Given the description of an element on the screen output the (x, y) to click on. 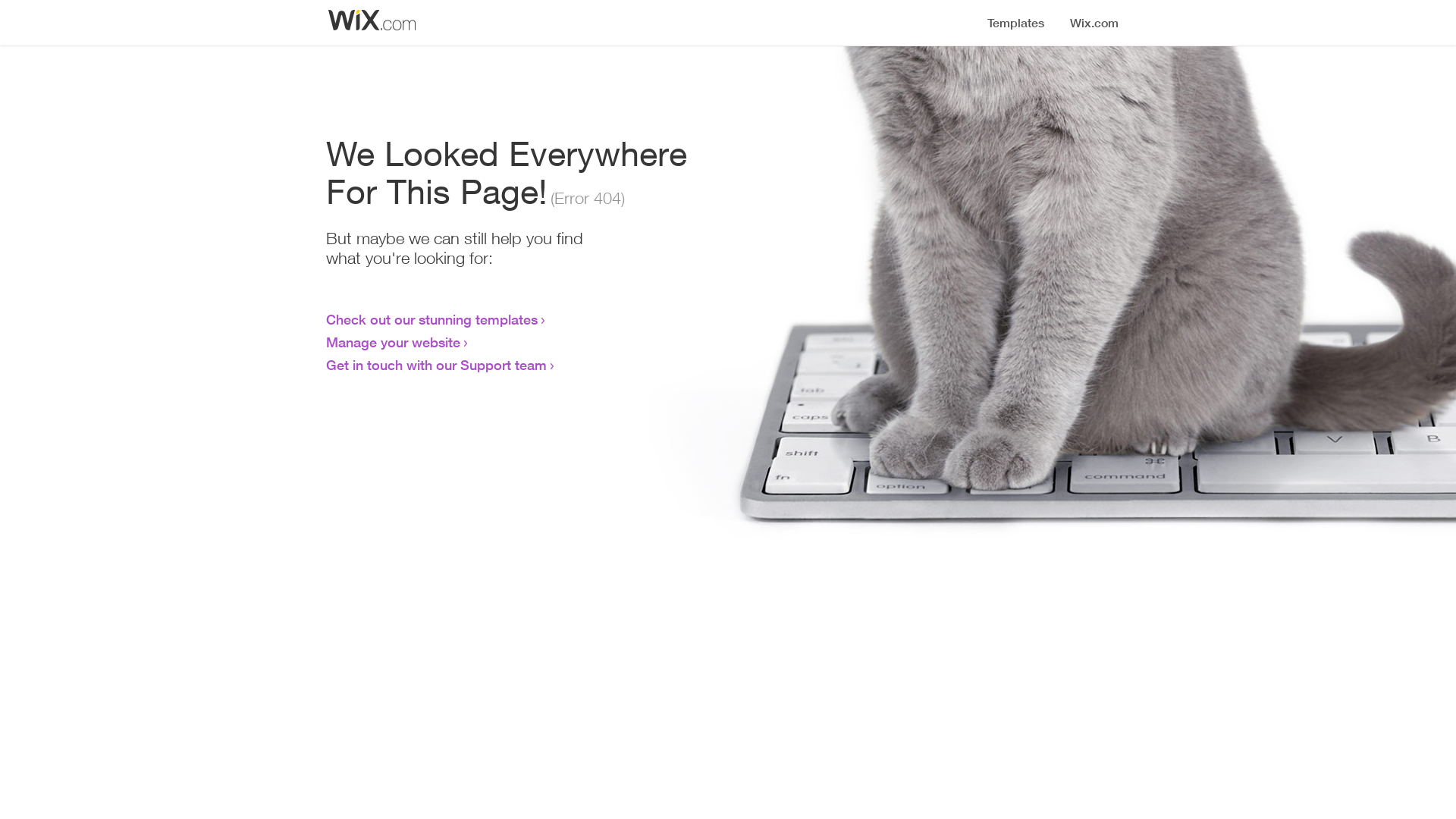
Check out our stunning templates Element type: text (431, 318)
Manage your website Element type: text (393, 341)
Get in touch with our Support team Element type: text (436, 364)
